Given the description of an element on the screen output the (x, y) to click on. 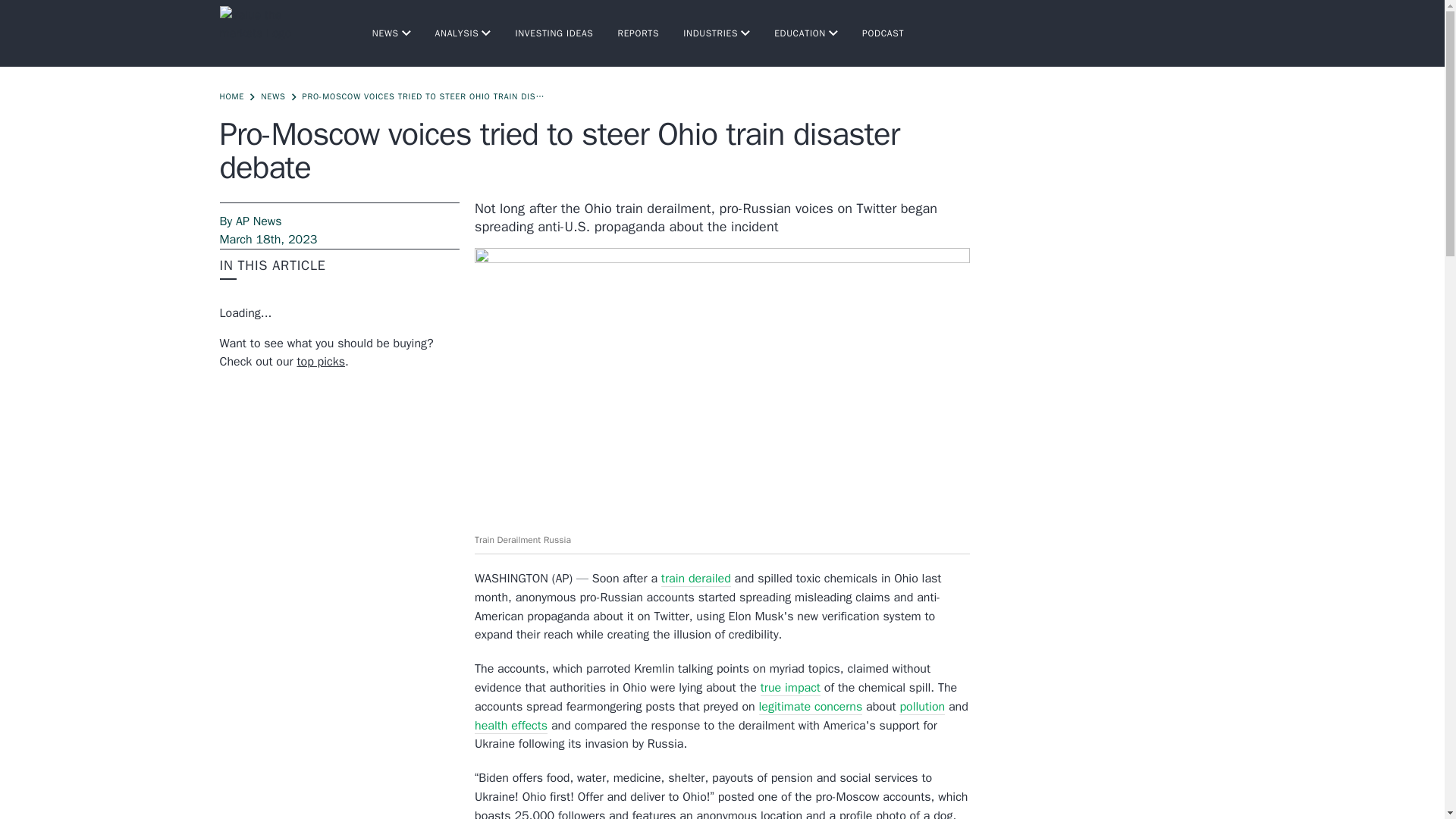
PODCAST (882, 33)
ANALYSIS (463, 33)
REPORTS (638, 33)
INVESTING IDEAS (553, 33)
EDUCATION (806, 33)
INDUSTRIES (715, 33)
NEWS (391, 33)
